Given the description of an element on the screen output the (x, y) to click on. 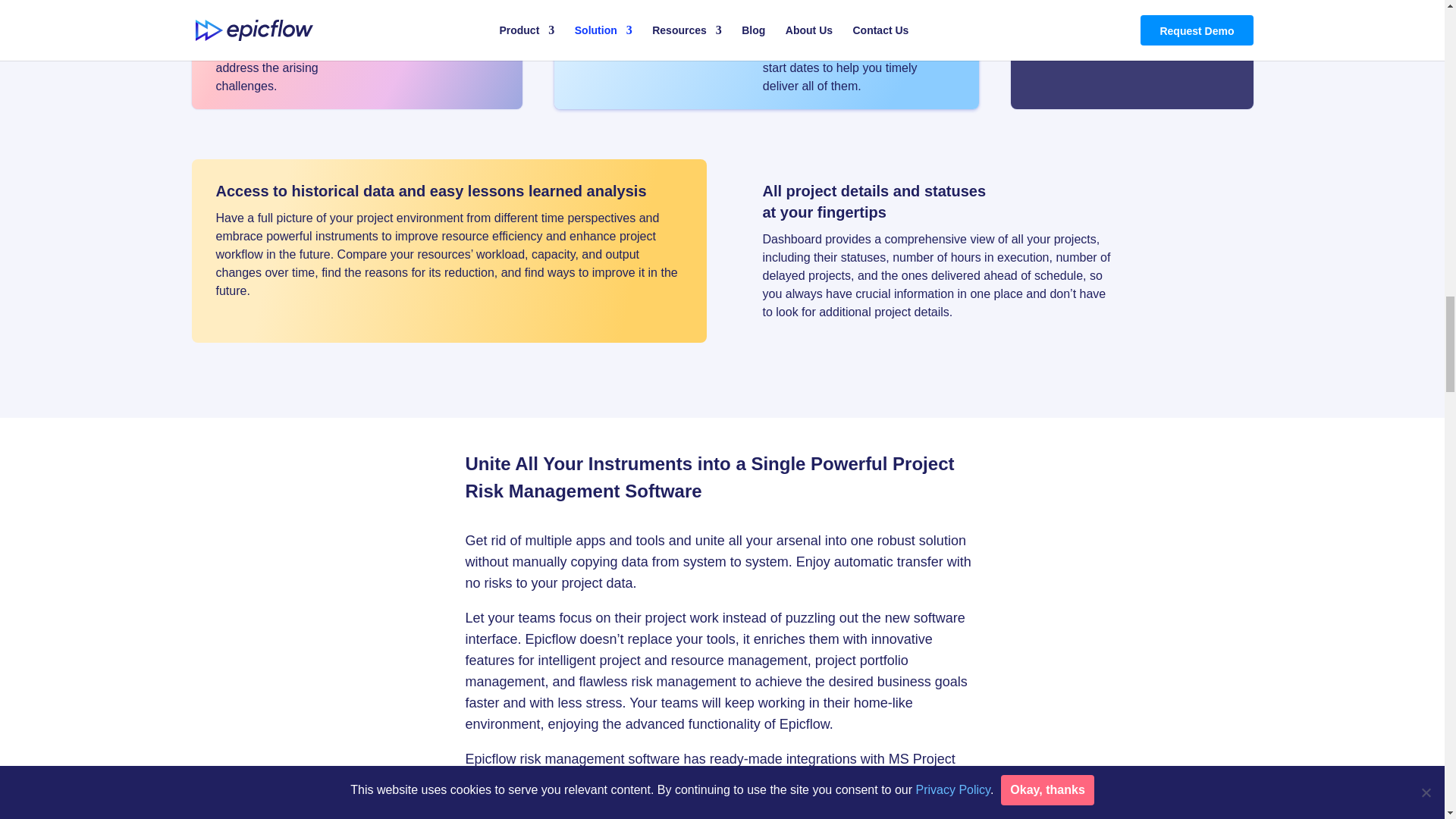
Ellipse 4 (451, 54)
